Given the description of an element on the screen output the (x, y) to click on. 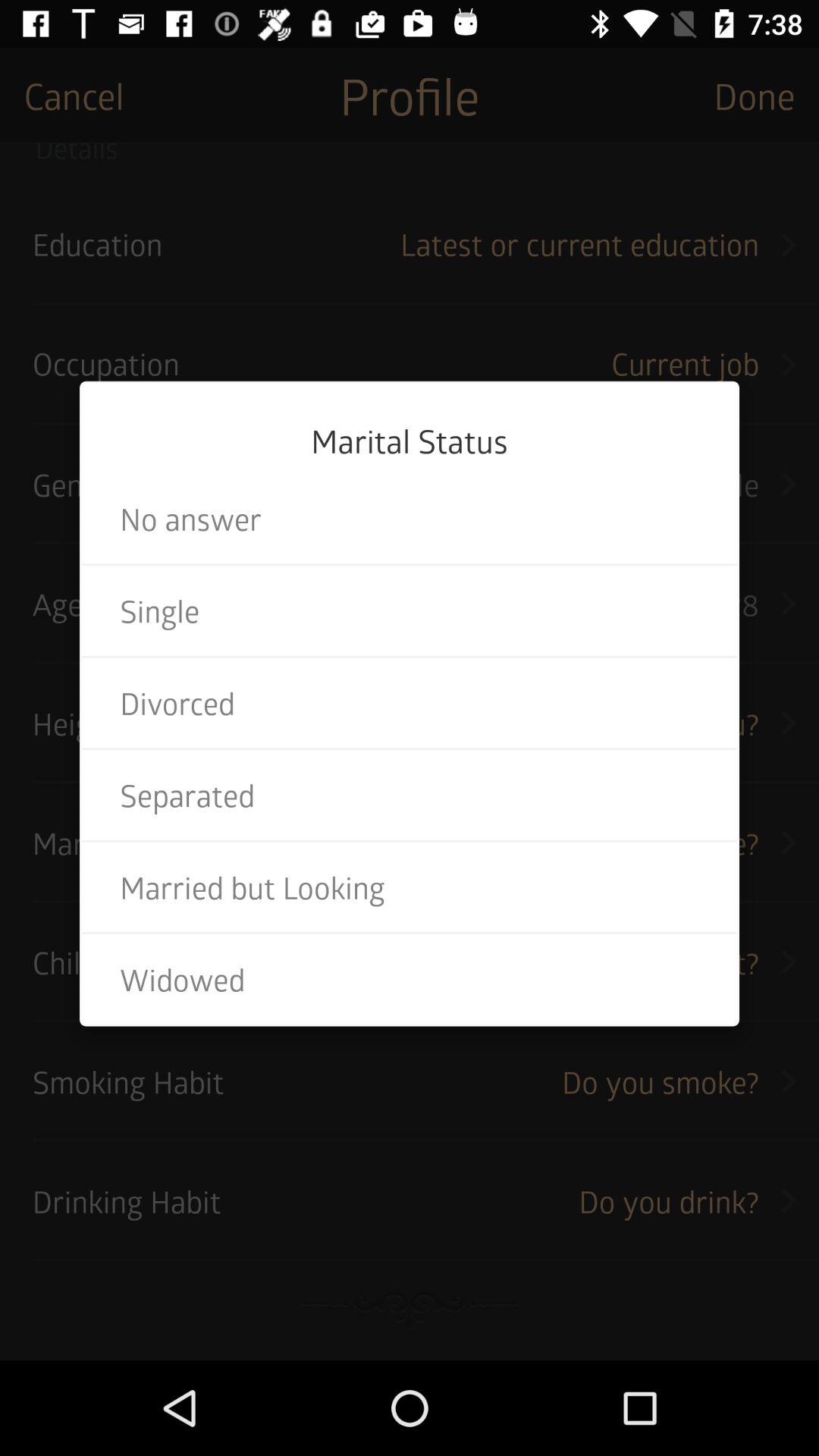
turn off no answer icon (409, 518)
